Given the description of an element on the screen output the (x, y) to click on. 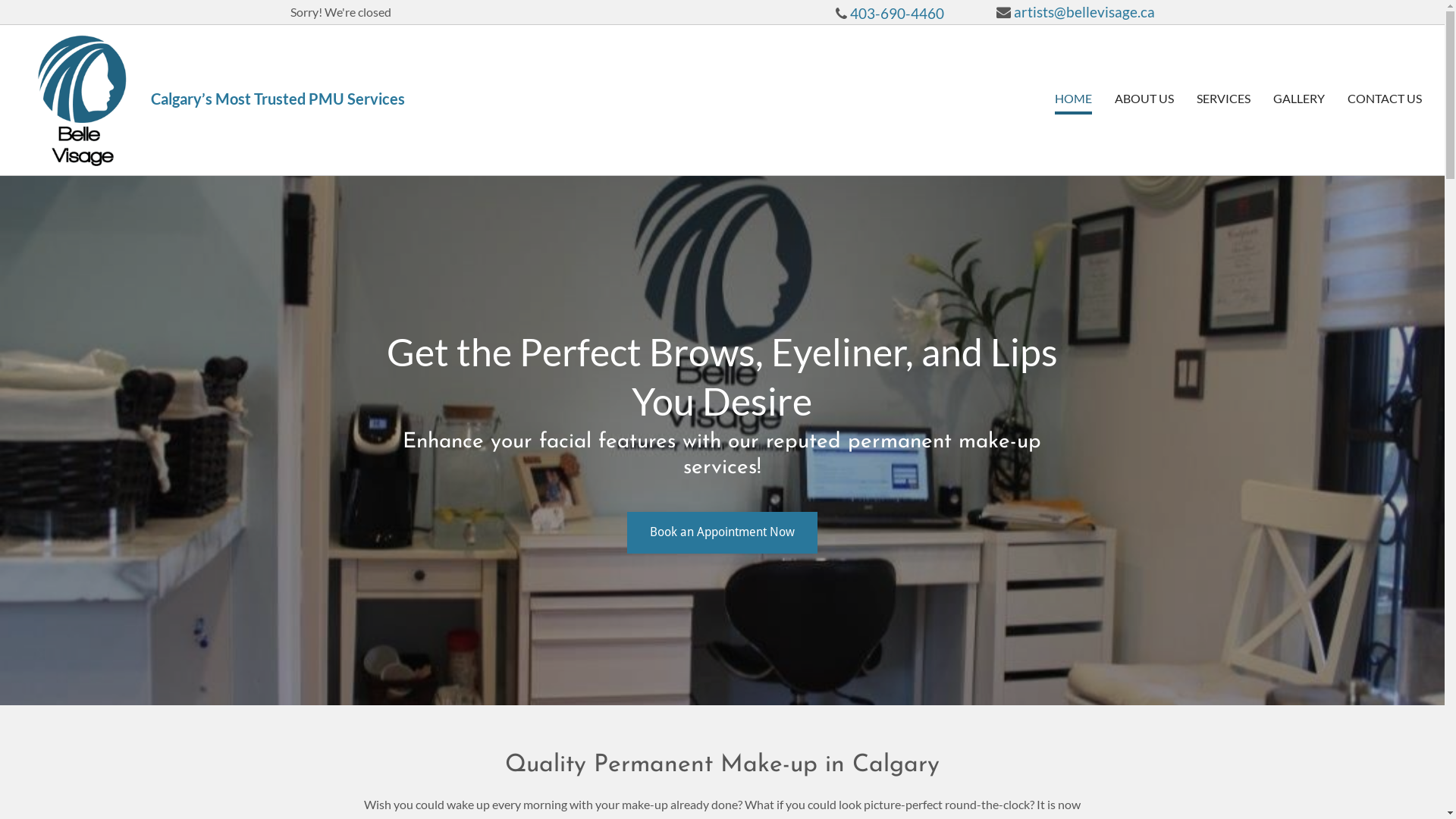
403-690-4460 Element type: text (897, 12)
artists@bellevisage.ca Element type: text (1083, 11)
Book an Appointment Now Element type: text (722, 532)
SERVICES Element type: text (1223, 100)
GALLERY Element type: text (1298, 100)
HOME Element type: text (1073, 100)
CONTACT US Element type: text (1384, 100)
ABOUT US Element type: text (1143, 100)
